Given the description of an element on the screen output the (x, y) to click on. 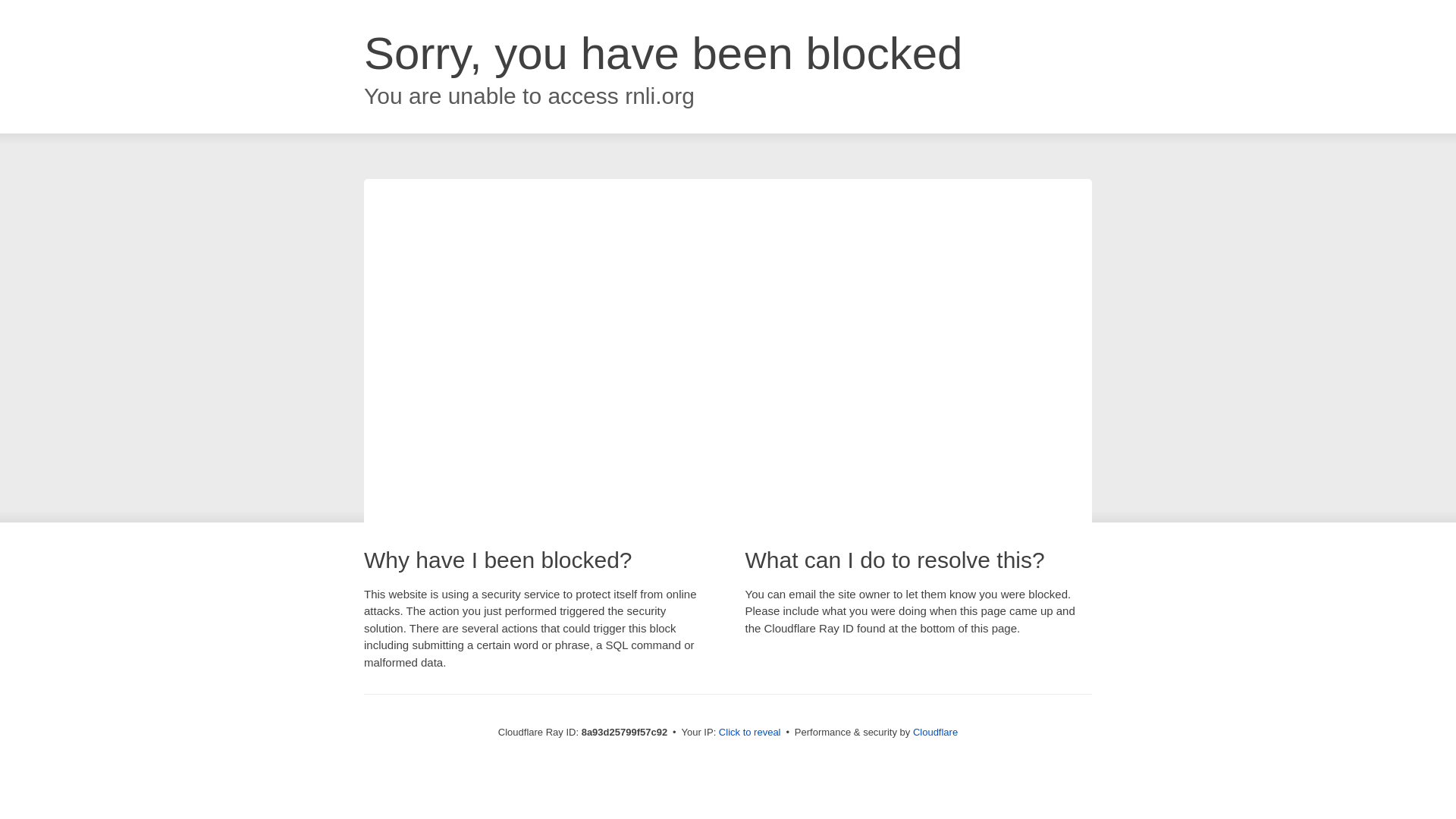
Cloudflare (935, 731)
Click to reveal (749, 732)
